Given the description of an element on the screen output the (x, y) to click on. 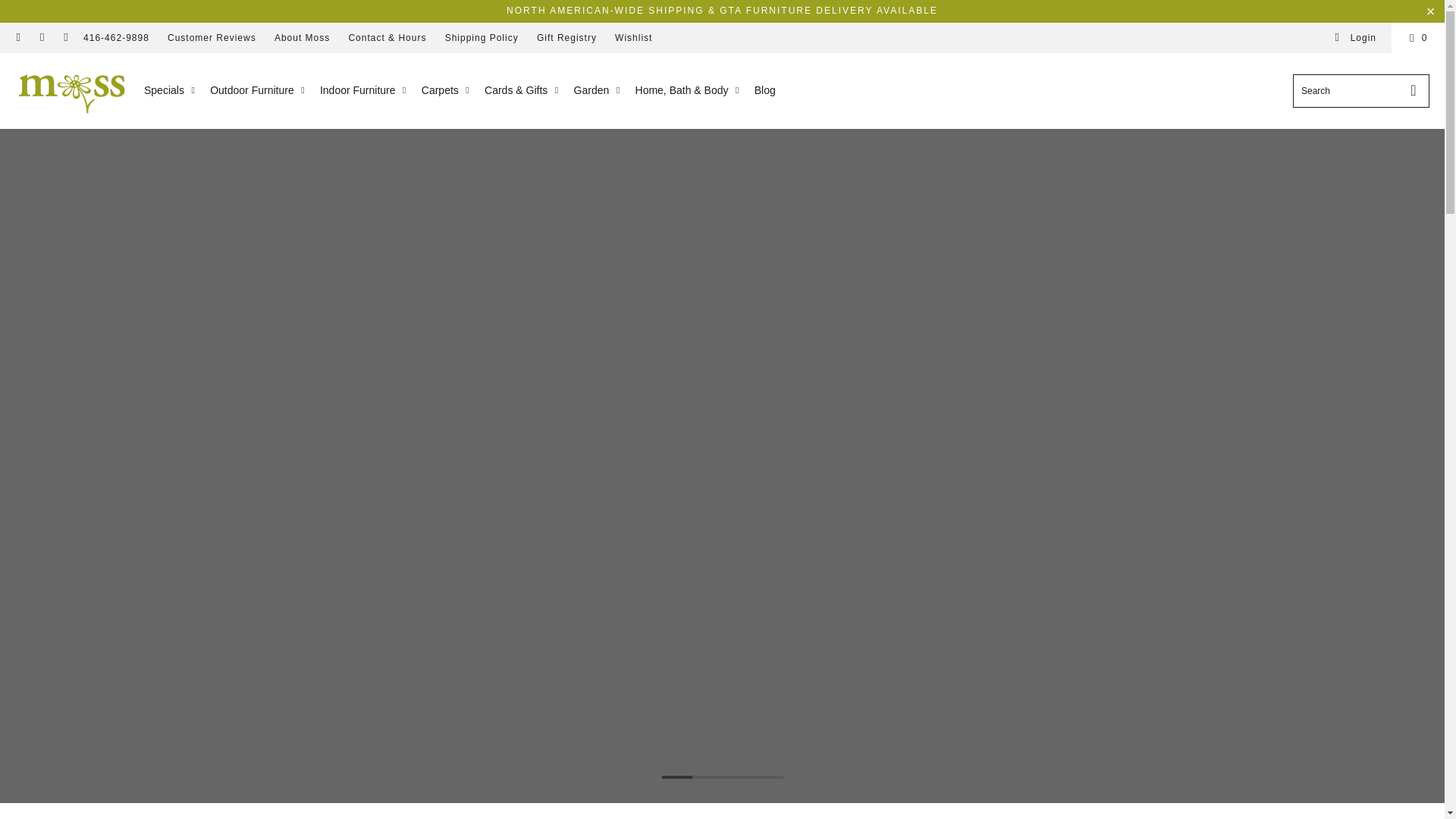
My Account  (1355, 37)
Email Moss Danforth (65, 37)
Moss Danforth on Facebook (17, 37)
Moss Danforth (71, 90)
Moss Danforth on Instagram (41, 37)
